Given the description of an element on the screen output the (x, y) to click on. 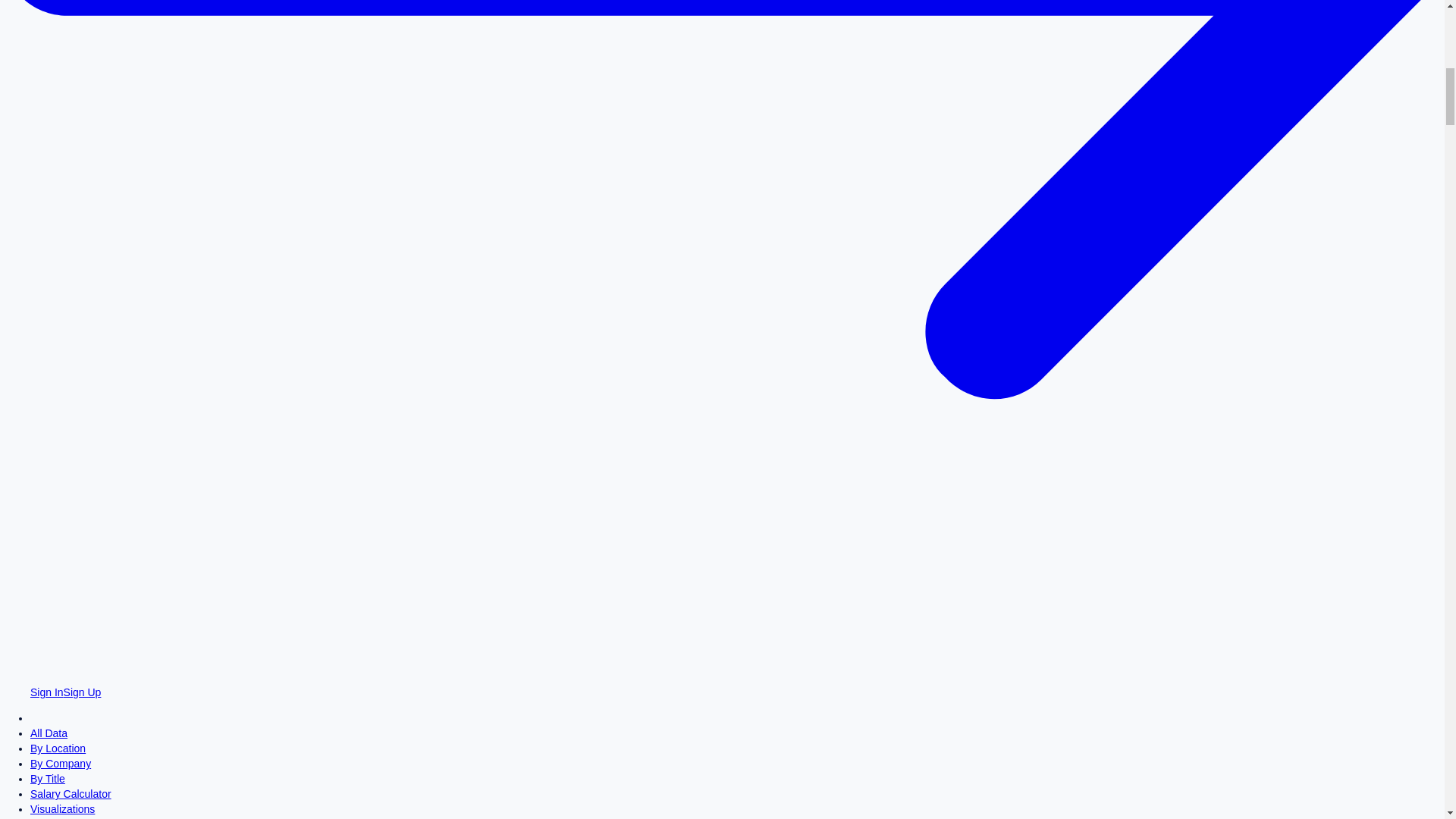
Sign In (47, 692)
By Location (57, 748)
All Data (48, 733)
Visualizations (62, 808)
By Company (60, 763)
Sign Up (82, 692)
Salary Calculator (71, 793)
By Title (47, 778)
